Given the description of an element on the screen output the (x, y) to click on. 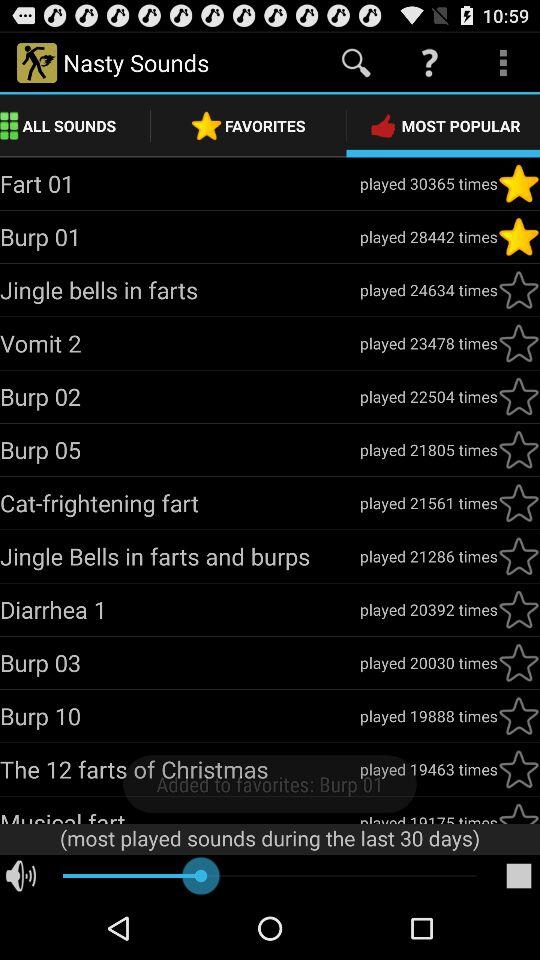
click app next to cat-frightening fart app (428, 502)
